Given the description of an element on the screen output the (x, y) to click on. 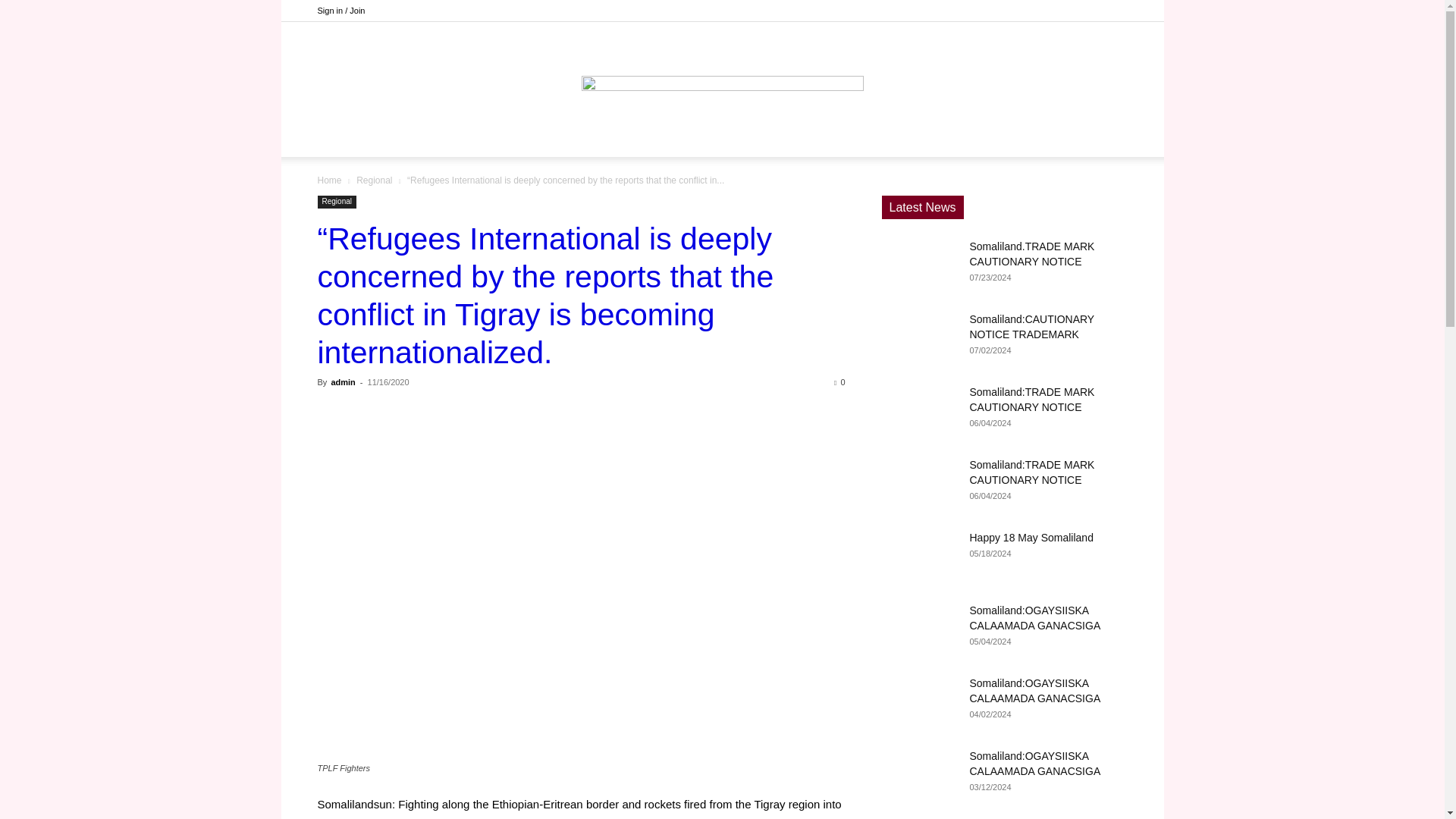
HOME (481, 138)
NEWS (631, 138)
Somaliland Sun (722, 71)
DONOR NEWS (556, 138)
